Given the description of an element on the screen output the (x, y) to click on. 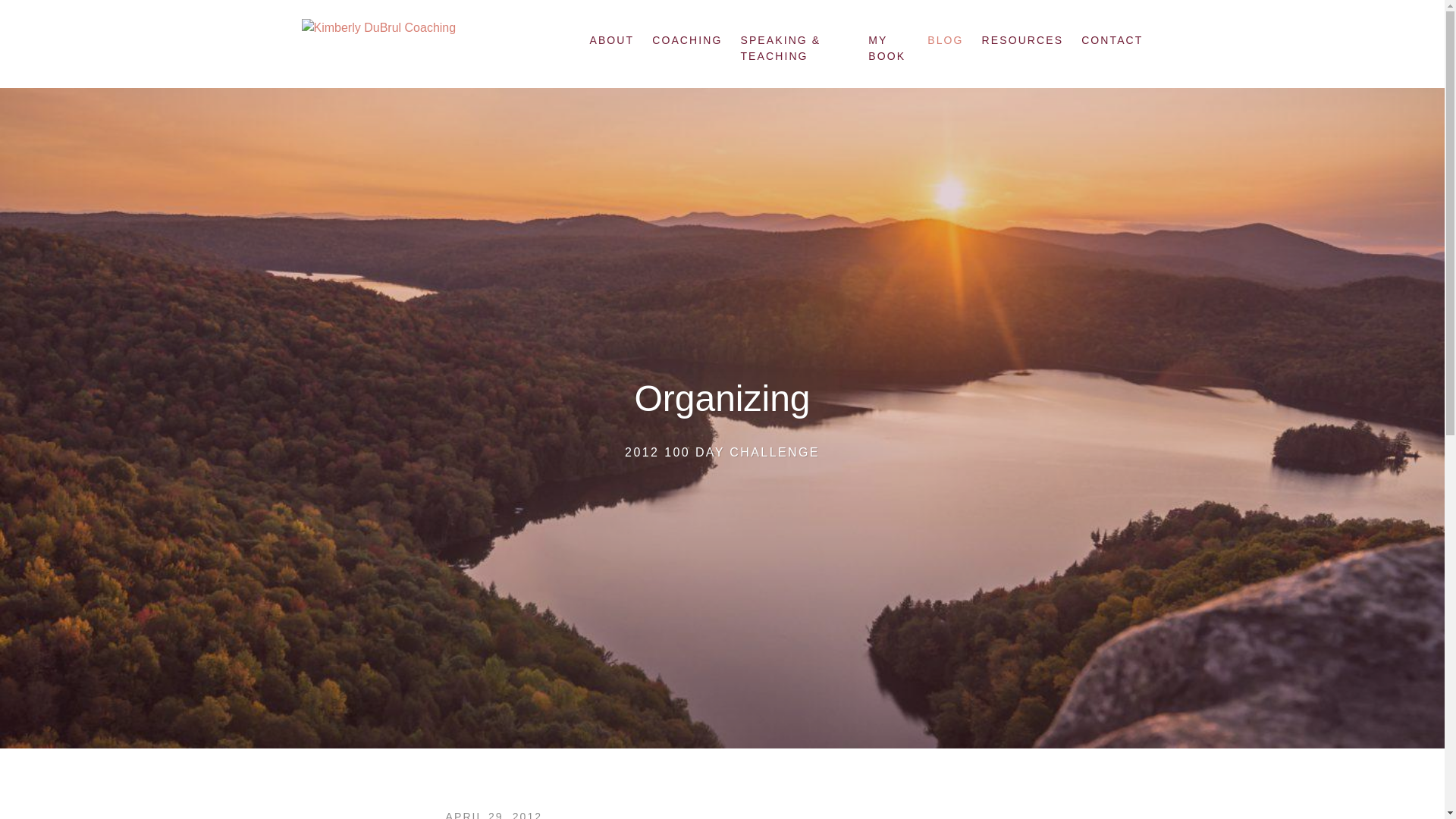
Coaching (686, 40)
Blog (945, 40)
BLOG (945, 40)
COACHING (686, 40)
Resources (1022, 40)
ABOUT (616, 40)
RESOURCES (1022, 40)
About (616, 40)
2012 100 DAY CHALLENGE (721, 451)
CONTACT (1106, 40)
